Given the description of an element on the screen output the (x, y) to click on. 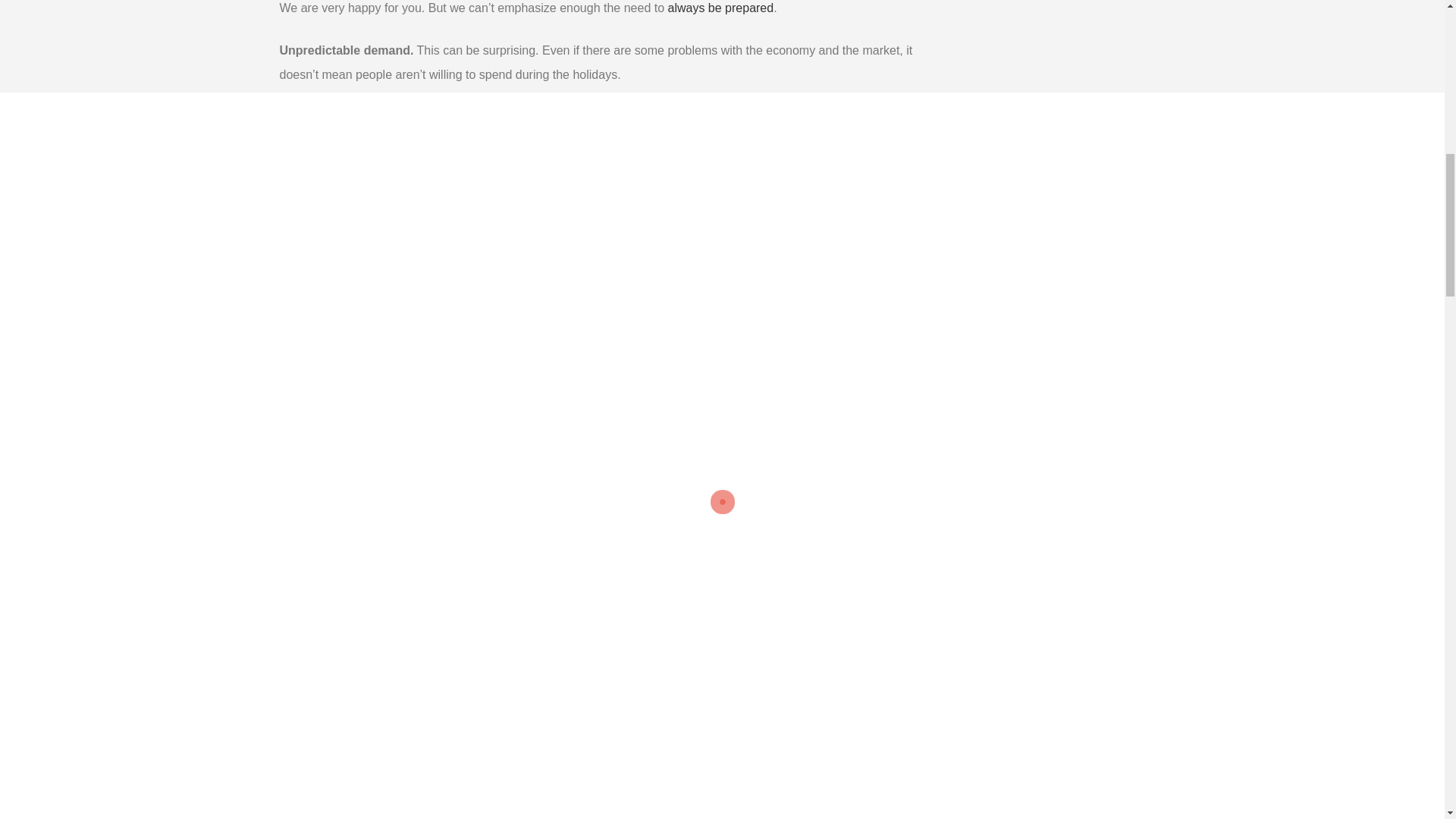
Click here (597, 466)
80,000 temporary workers (556, 784)
always be prepared (721, 7)
